Given the description of an element on the screen output the (x, y) to click on. 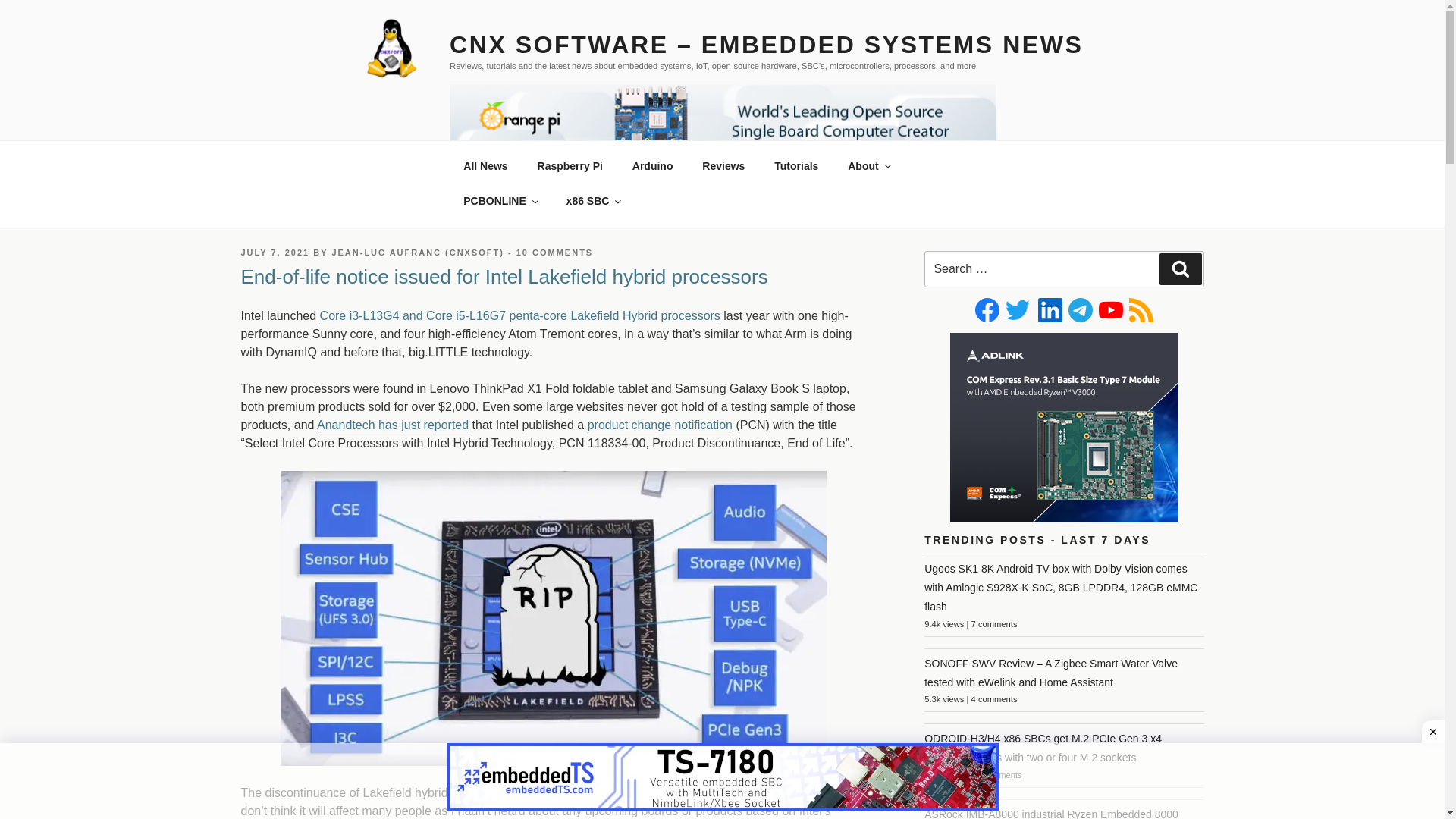
All News (485, 165)
Raspberry Pi (569, 165)
Anandtech has just reported (392, 424)
PCBONLINE (499, 200)
Purchase PCBs from our sponsor (499, 200)
JULY 7, 2021 (275, 252)
About (868, 165)
x86 SBC (593, 200)
Tutorials (796, 165)
Reviews (723, 165)
product change notification (660, 424)
Arduino (651, 165)
